Given the description of an element on the screen output the (x, y) to click on. 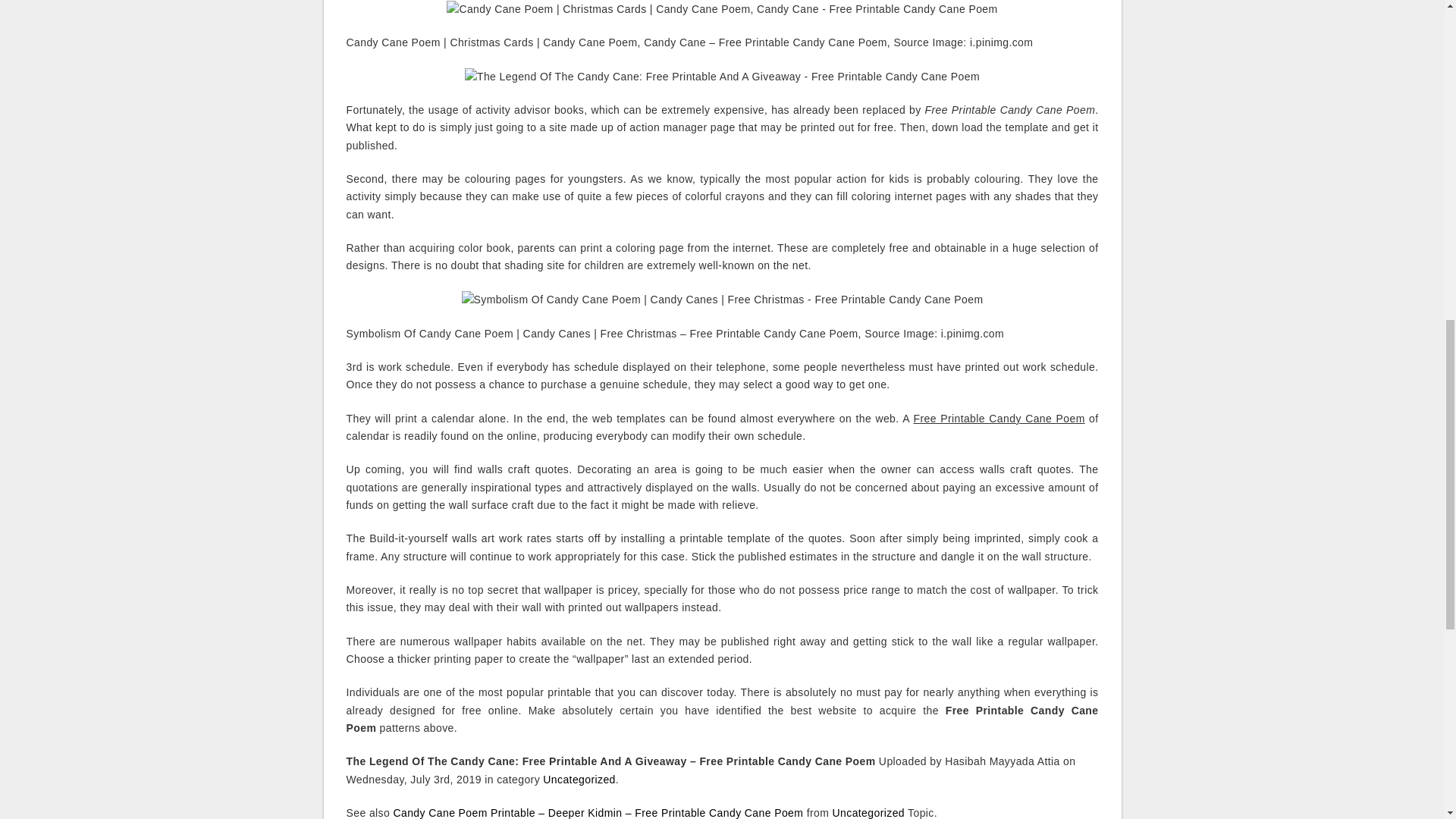
Uncategorized (868, 812)
Uncategorized (578, 779)
